Given the description of an element on the screen output the (x, y) to click on. 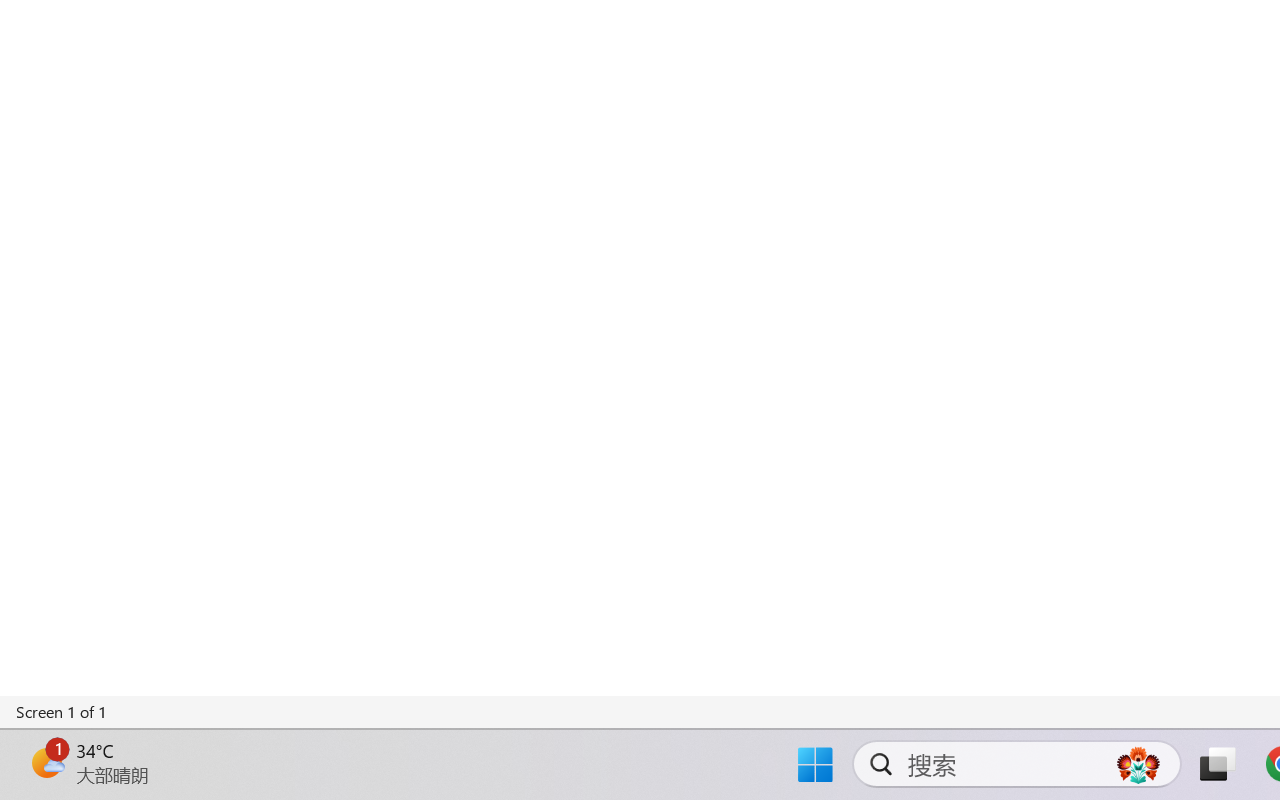
Page Number Screen 1 of 1  (62, 712)
